Given the description of an element on the screen output the (x, y) to click on. 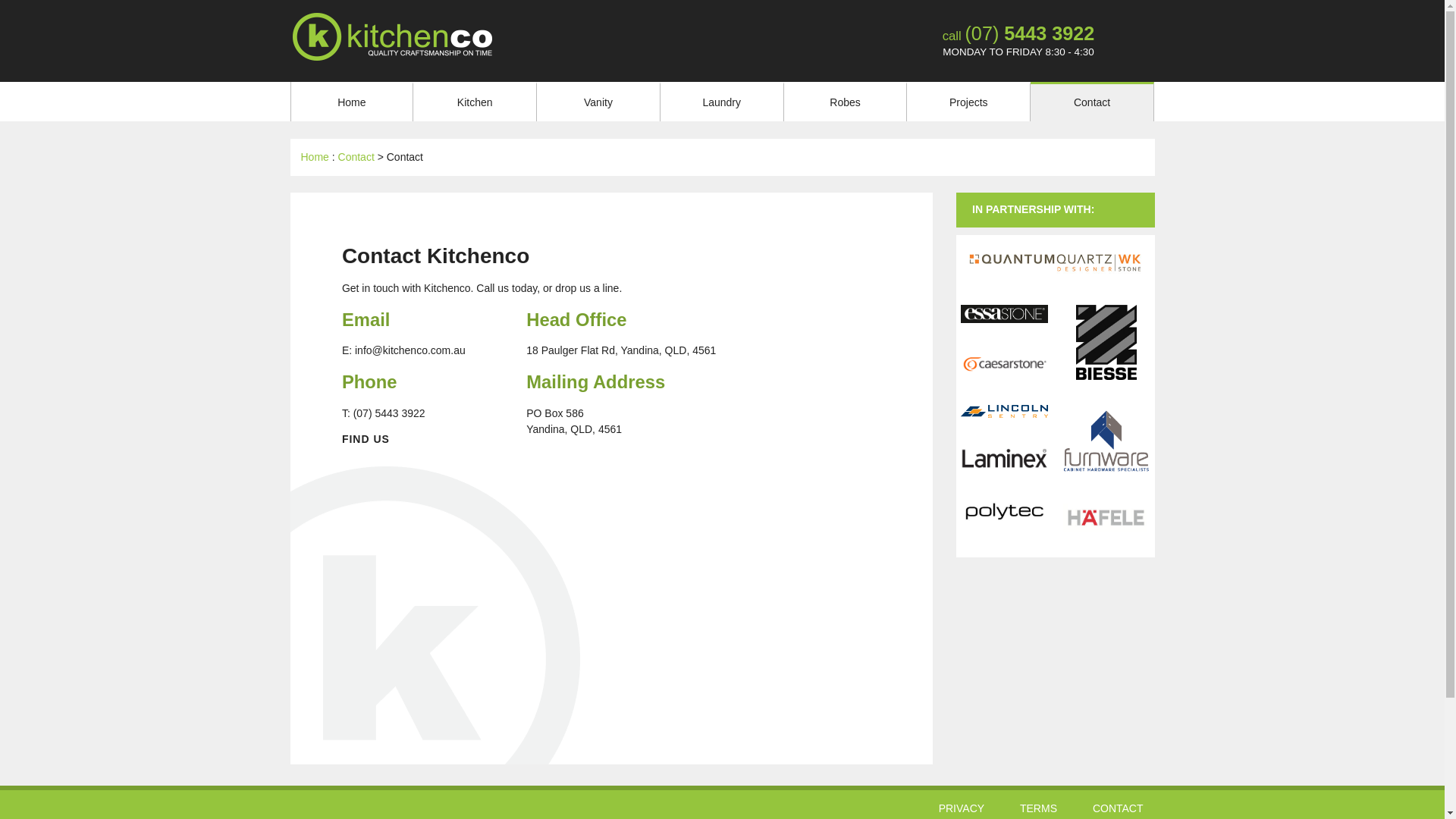
PRIVACY Element type: text (961, 808)
Laundry Element type: text (722, 101)
WK Marble & Granite Element type: hover (1055, 291)
Caesarstone Element type: hover (1003, 391)
Vanity Element type: text (598, 101)
Contact Element type: text (356, 156)
Lincoln Sentry Element type: hover (1003, 435)
Home Element type: text (352, 101)
Contact Element type: text (1092, 101)
Hafele Element type: hover (1106, 548)
Home Element type: text (314, 156)
Polytec Images Element type: hover (1003, 542)
Robes Element type: text (845, 101)
Laminex Element type: hover (1003, 486)
Biesse Element type: hover (1106, 397)
Kitchen Element type: text (474, 101)
Kitchenco Element type: hover (391, 36)
Furnware Element type: hover (1106, 489)
TERMS Element type: text (1038, 808)
Essa Stone Element type: hover (1003, 340)
(07) 5443 3922 Element type: text (1029, 32)
CONTACT Element type: text (1117, 808)
Projects Element type: text (968, 101)
